Given the description of an element on the screen output the (x, y) to click on. 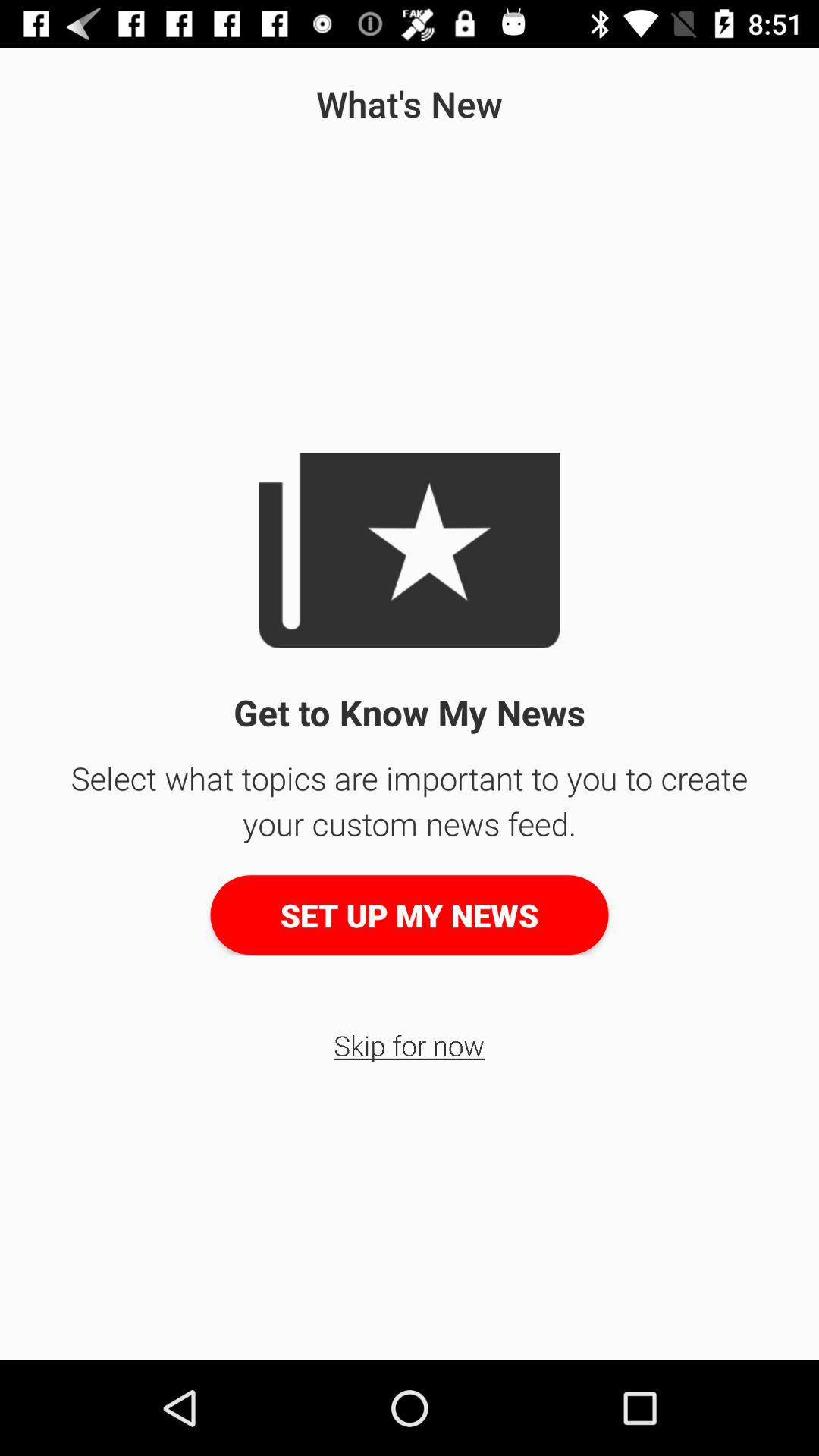
swipe until skip for now item (409, 1044)
